Given the description of an element on the screen output the (x, y) to click on. 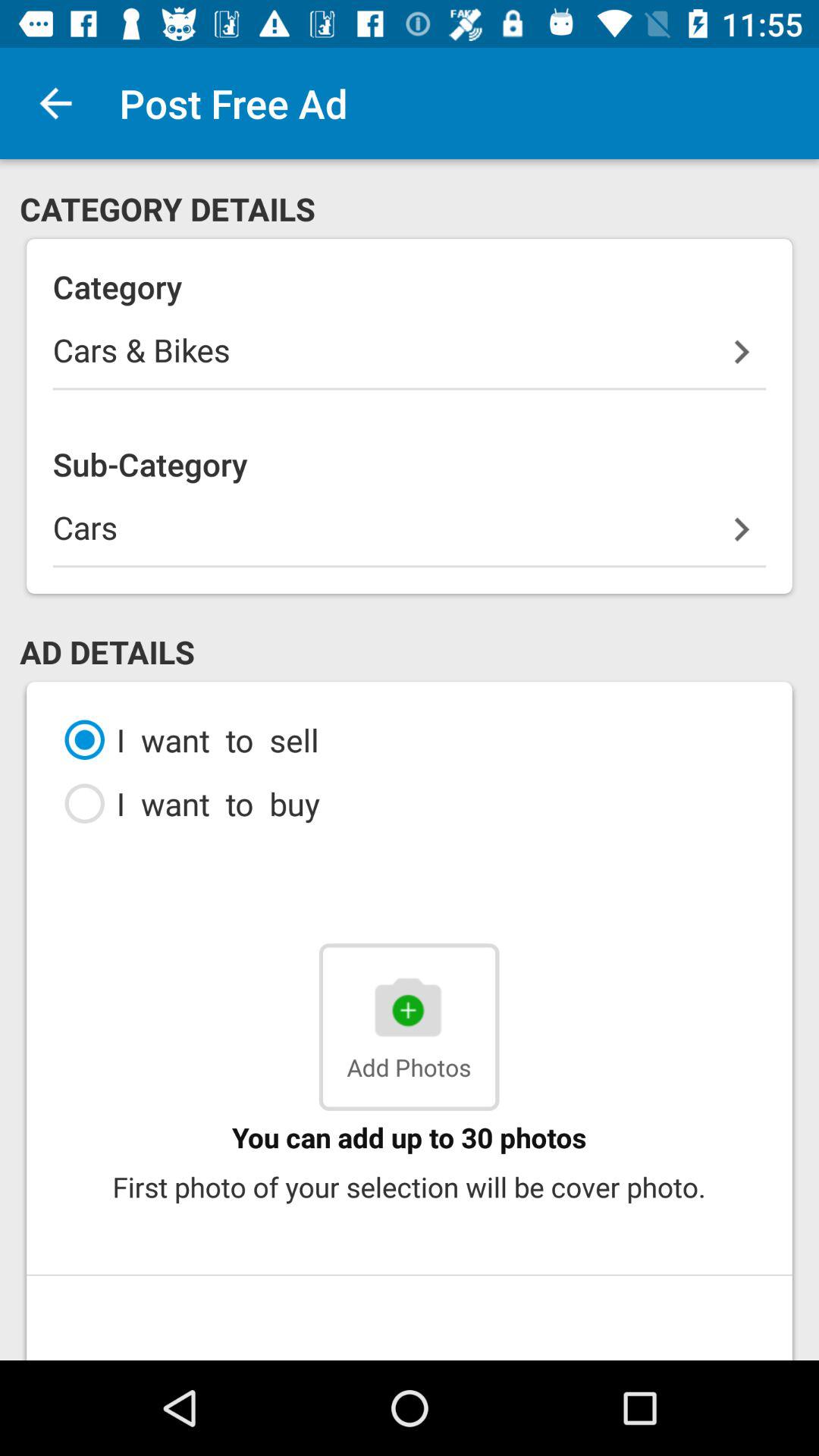
turn off the item next to post free ad icon (55, 103)
